Given the description of an element on the screen output the (x, y) to click on. 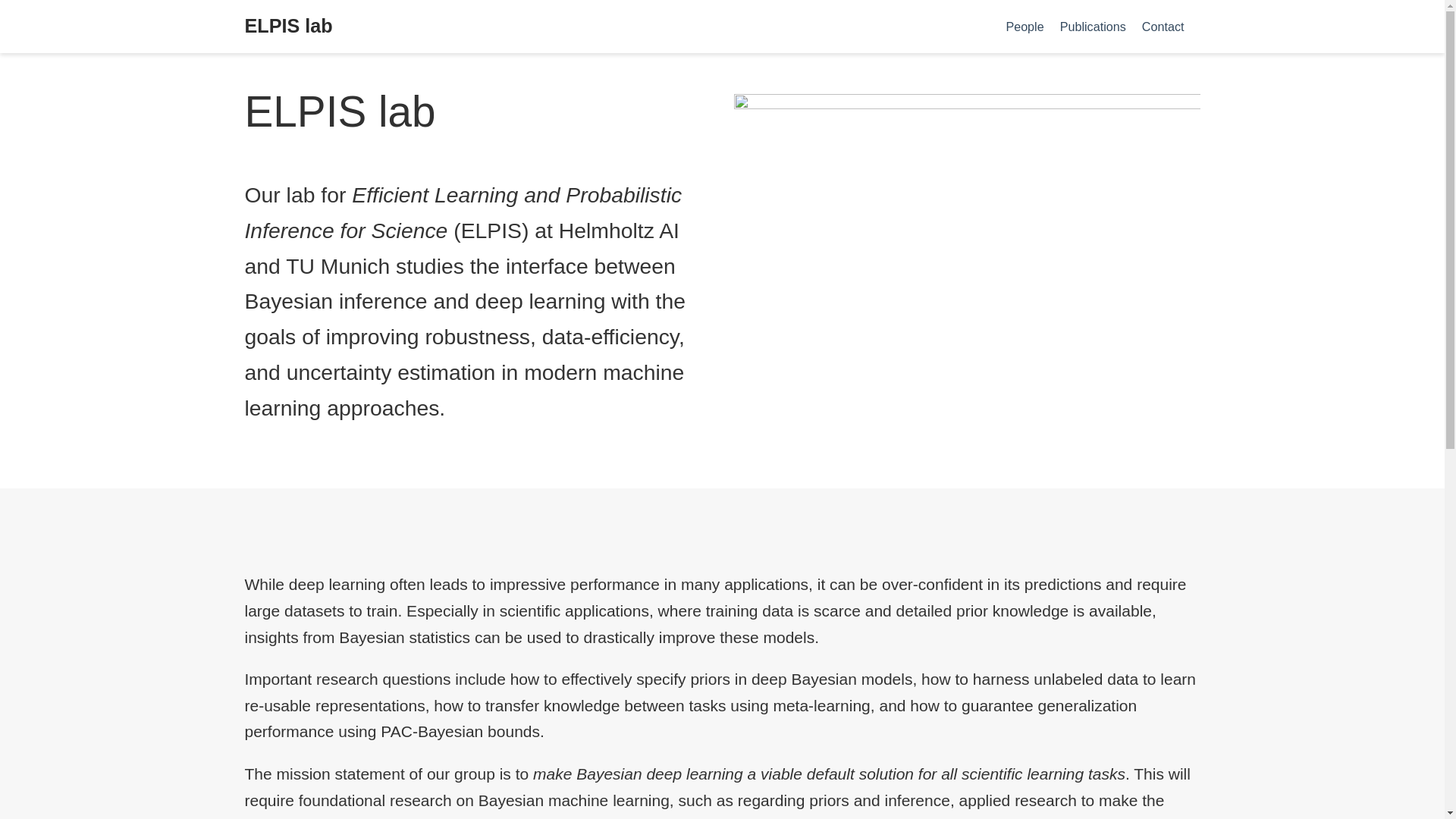
Contact (1163, 25)
People (1024, 25)
ELPIS lab (287, 26)
Publications (1092, 25)
